Given the description of an element on the screen output the (x, y) to click on. 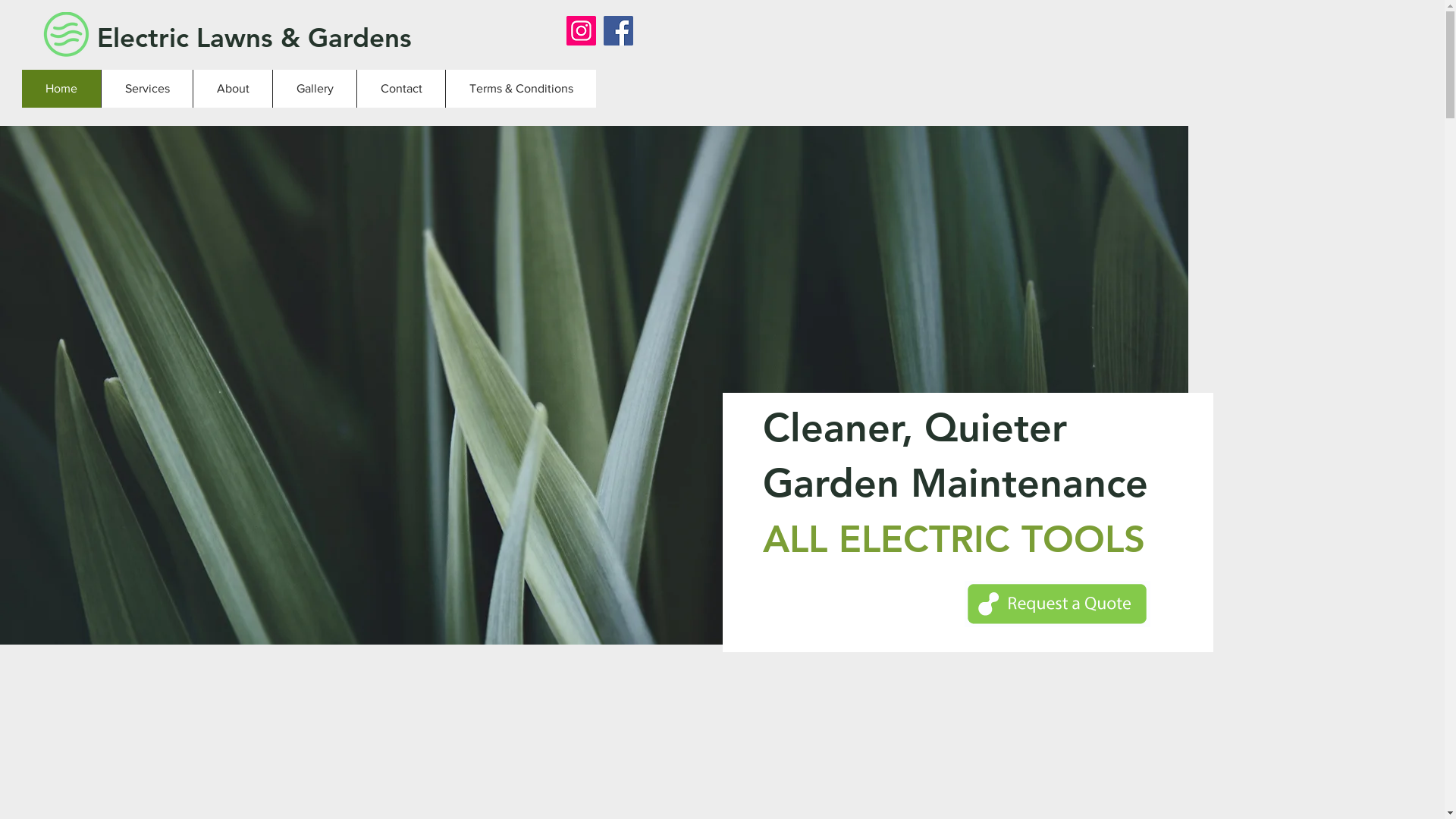
Services Element type: text (146, 88)
Electric Lawns & Gardens Element type: text (258, 36)
Click to request a quote Element type: hover (1057, 603)
About Element type: text (232, 88)
Terms & Conditions Element type: text (520, 88)
Contact Element type: text (400, 88)
Gallery Element type: text (314, 88)
Home Element type: text (60, 88)
